Given the description of an element on the screen output the (x, y) to click on. 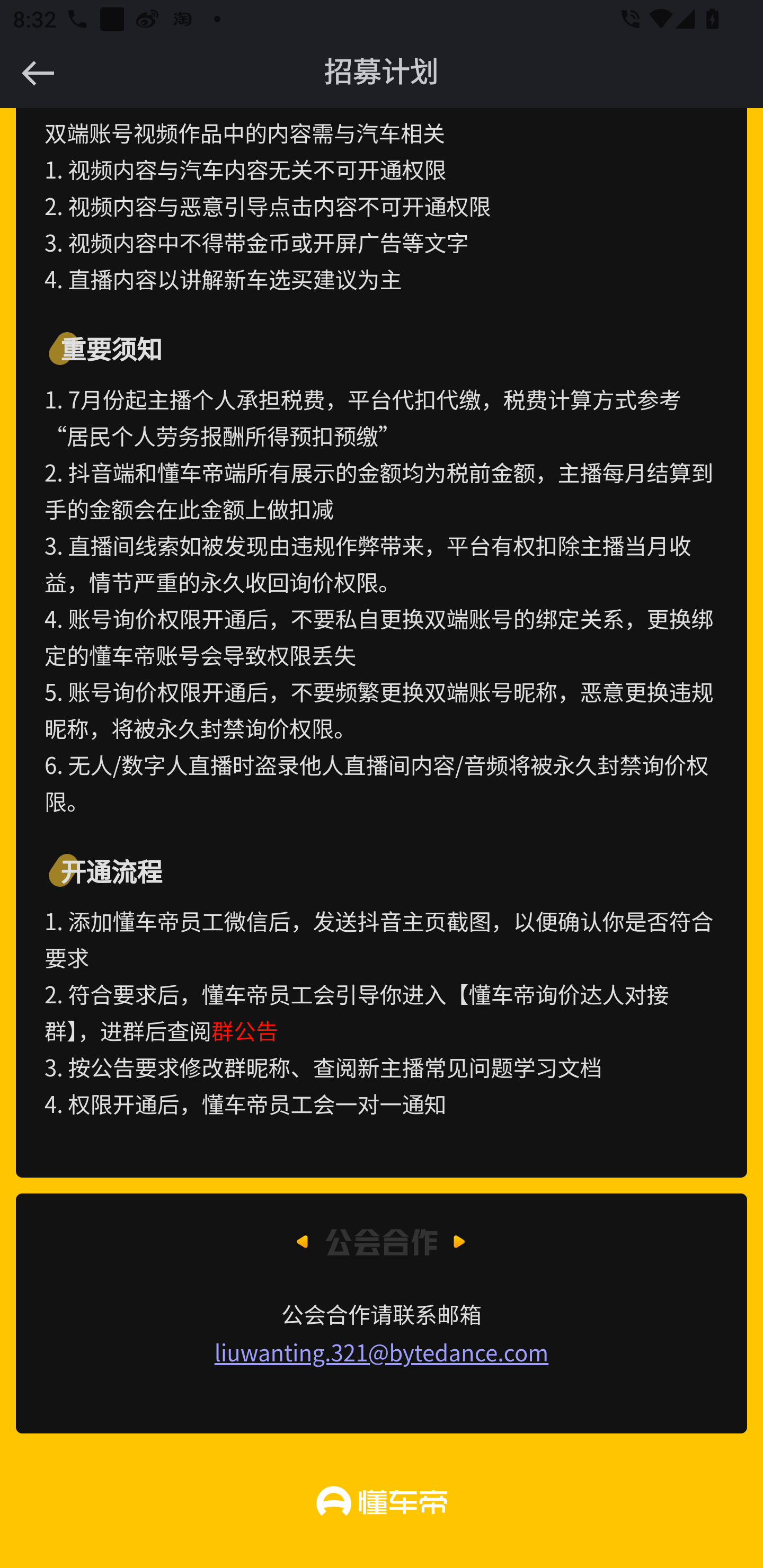
招募计划 (381, 72)
liuwanting.321@bytedance.com (381, 1352)
